Given the description of an element on the screen output the (x, y) to click on. 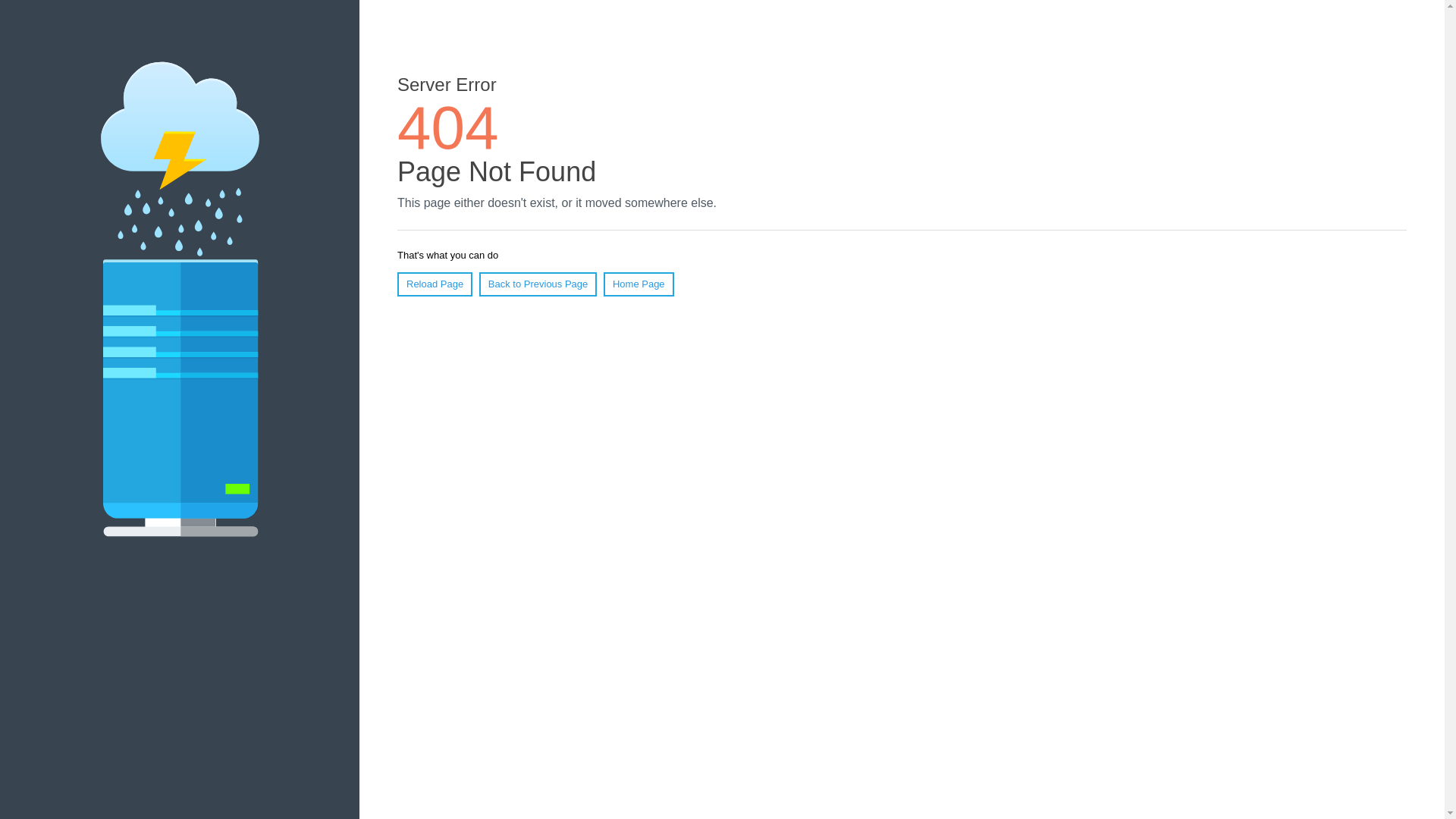
Back to Previous Page Element type: text (538, 284)
Home Page Element type: text (638, 284)
Reload Page Element type: text (434, 284)
